Given the description of an element on the screen output the (x, y) to click on. 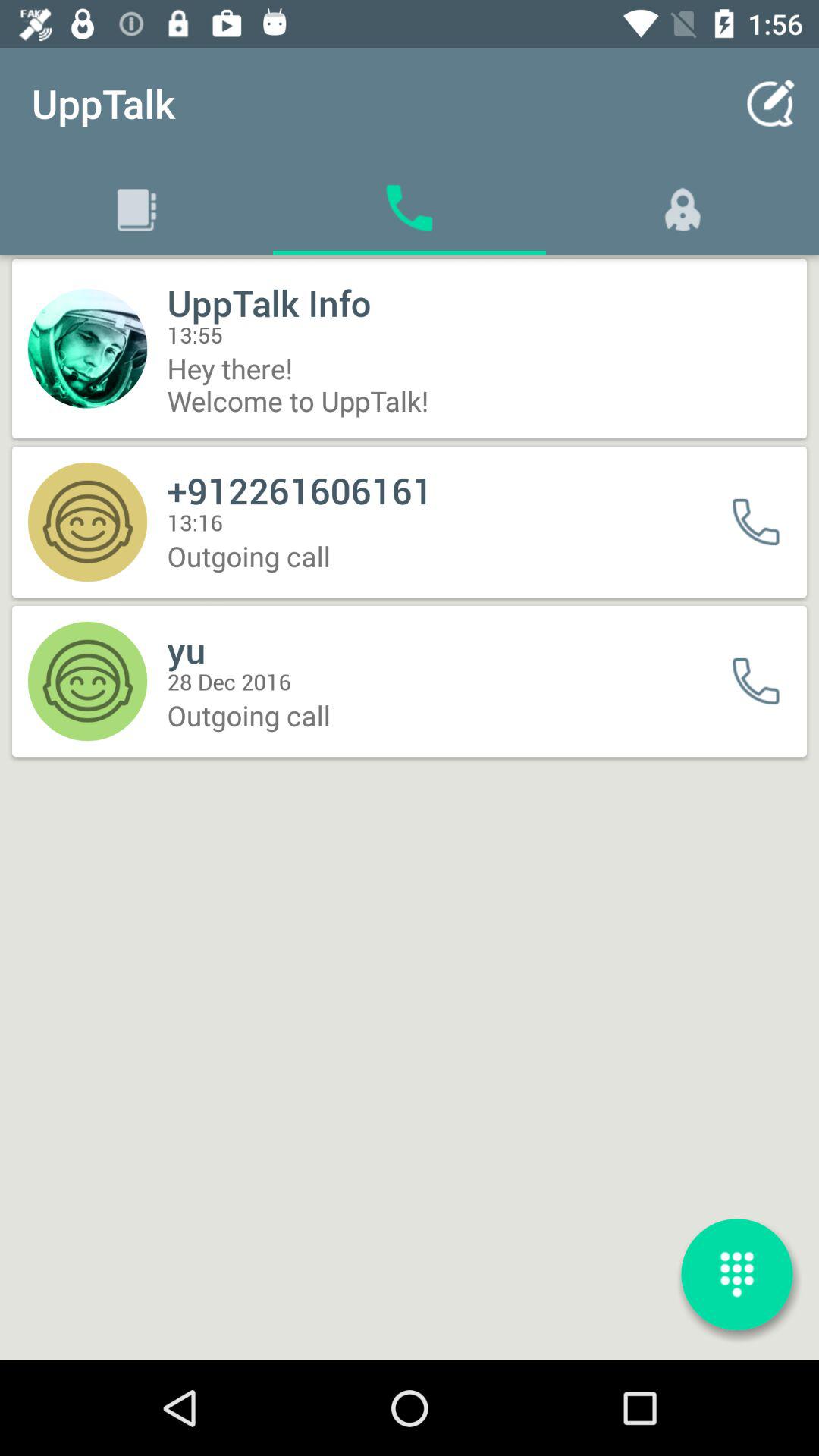
call it (765, 681)
